Given the description of an element on the screen output the (x, y) to click on. 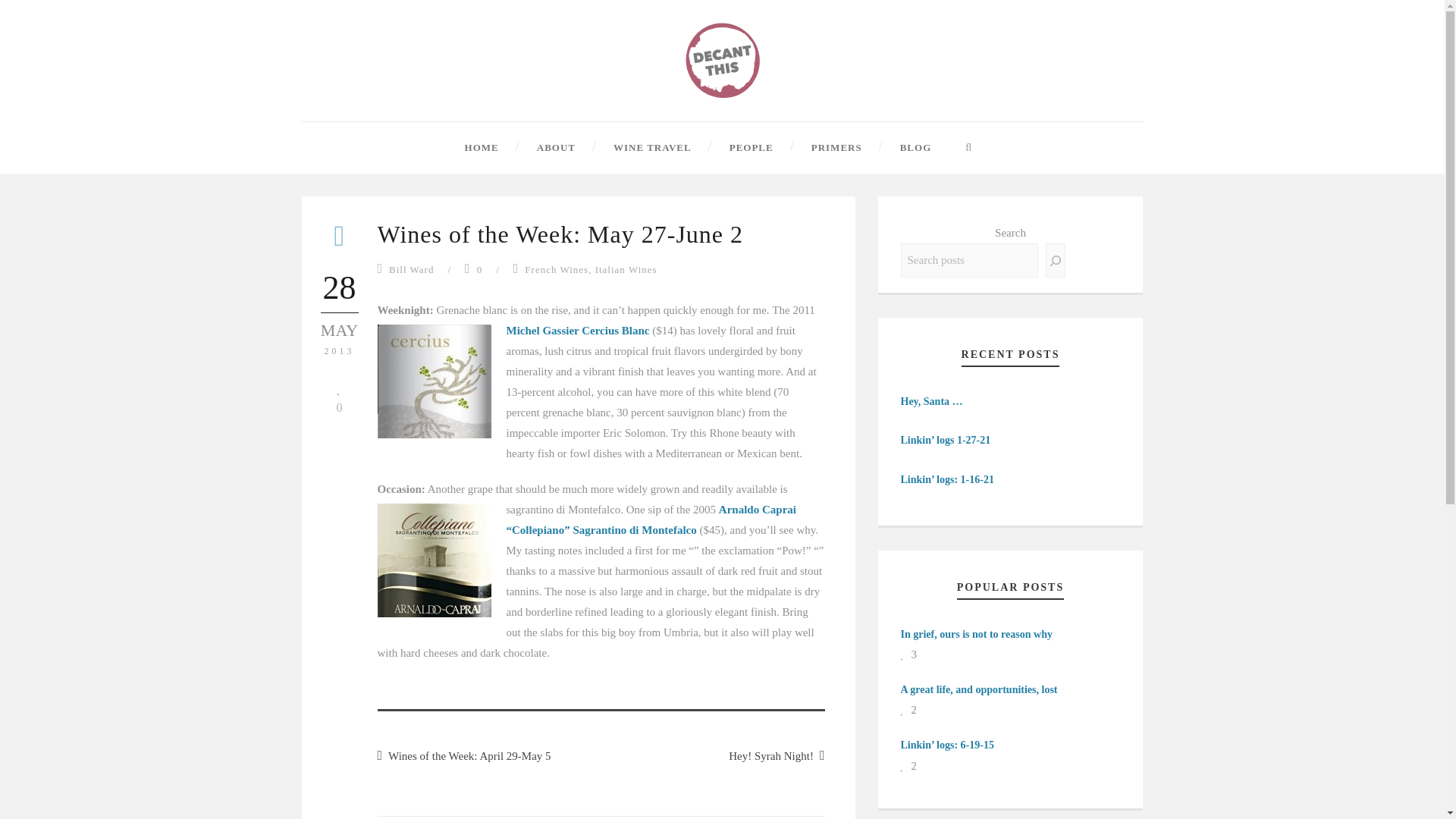
ABOUT (537, 147)
PRIMERS (817, 147)
WINE TRAVEL (633, 147)
BLOG (896, 147)
French Wines (556, 269)
Wines of the Week: April 29-May 5 (464, 756)
Posts by Bill Ward (410, 269)
Bill Ward (410, 269)
Italian Wines (626, 269)
Michel Gassier Cercius Blanc (579, 330)
